Given the description of an element on the screen output the (x, y) to click on. 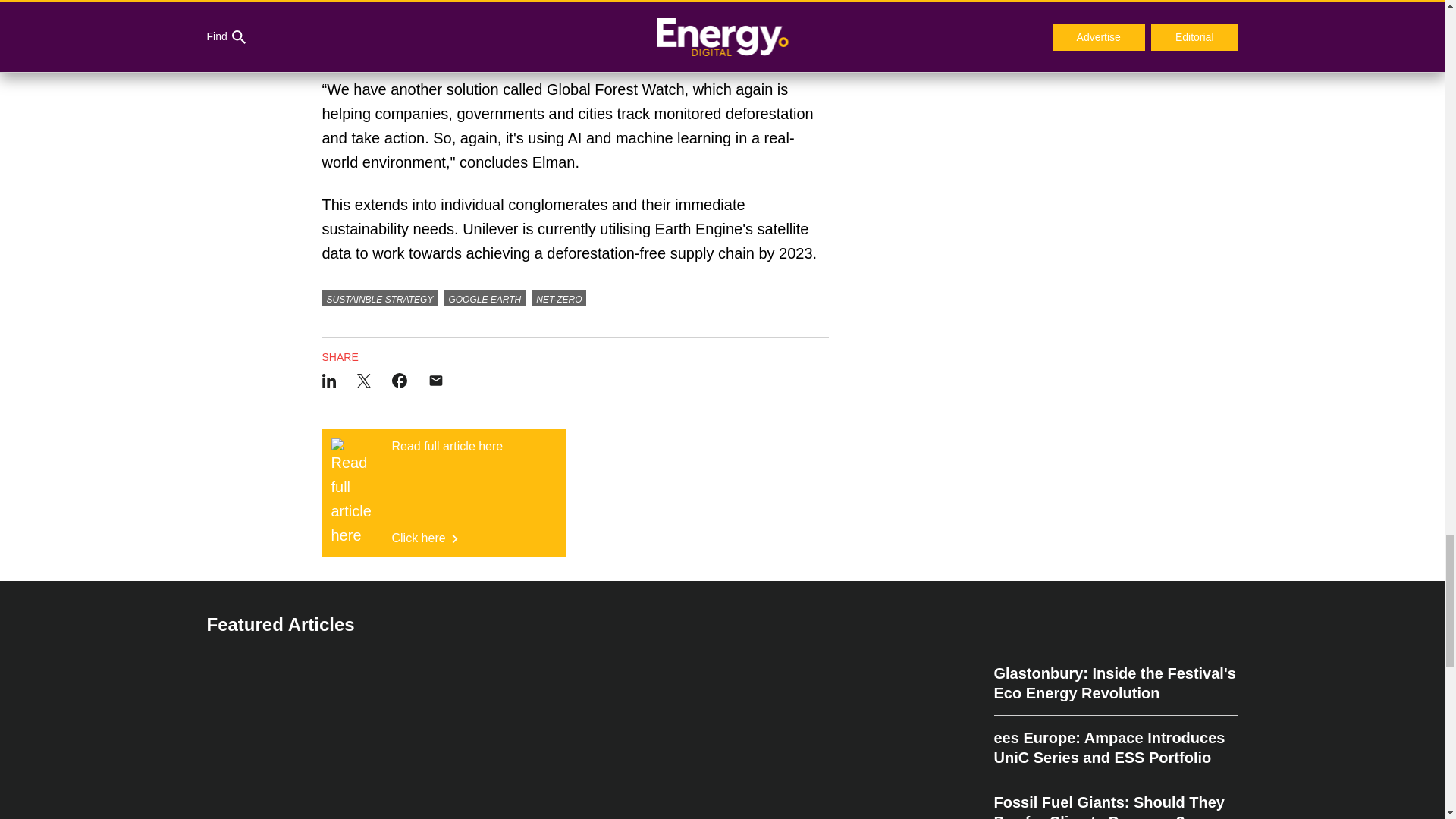
Glastonbury: Inside the Festival's Eco Energy Revolution (1114, 689)
ees Europe: Ampace Introduces UniC Series and ESS Portfolio (1114, 747)
NET-ZERO (558, 297)
Fossil Fuel Giants: Should They Pay for Climate Damages? (1114, 799)
GOOGLE EARTH (443, 492)
SUSTAINBLE STRATEGY (484, 297)
